Given the description of an element on the screen output the (x, y) to click on. 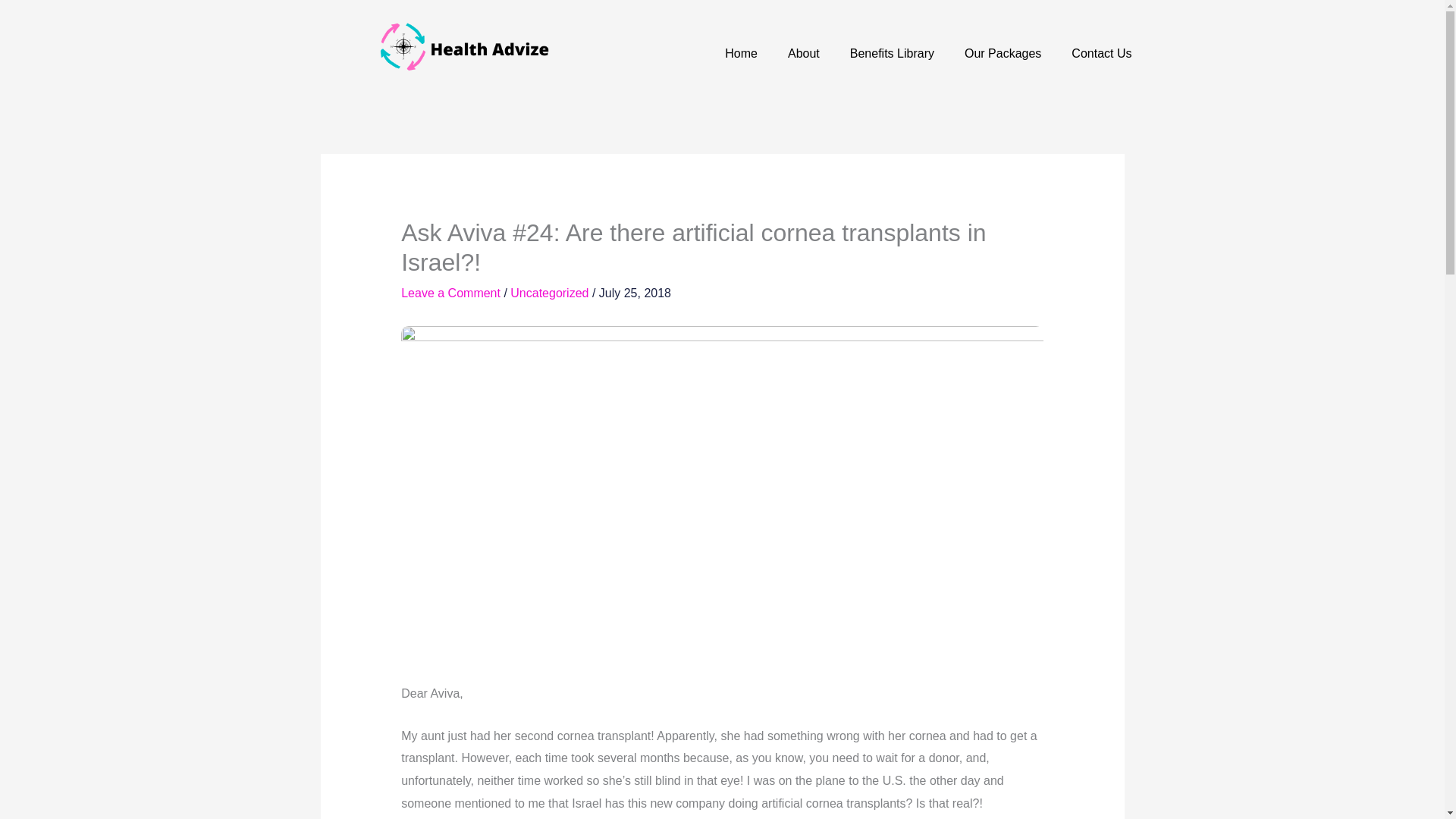
Contact Us (1102, 53)
Benefits Library (891, 53)
Uncategorized (549, 292)
About (803, 53)
Home (741, 53)
Leave a Comment (450, 292)
Our Packages (1003, 53)
